Given the description of an element on the screen output the (x, y) to click on. 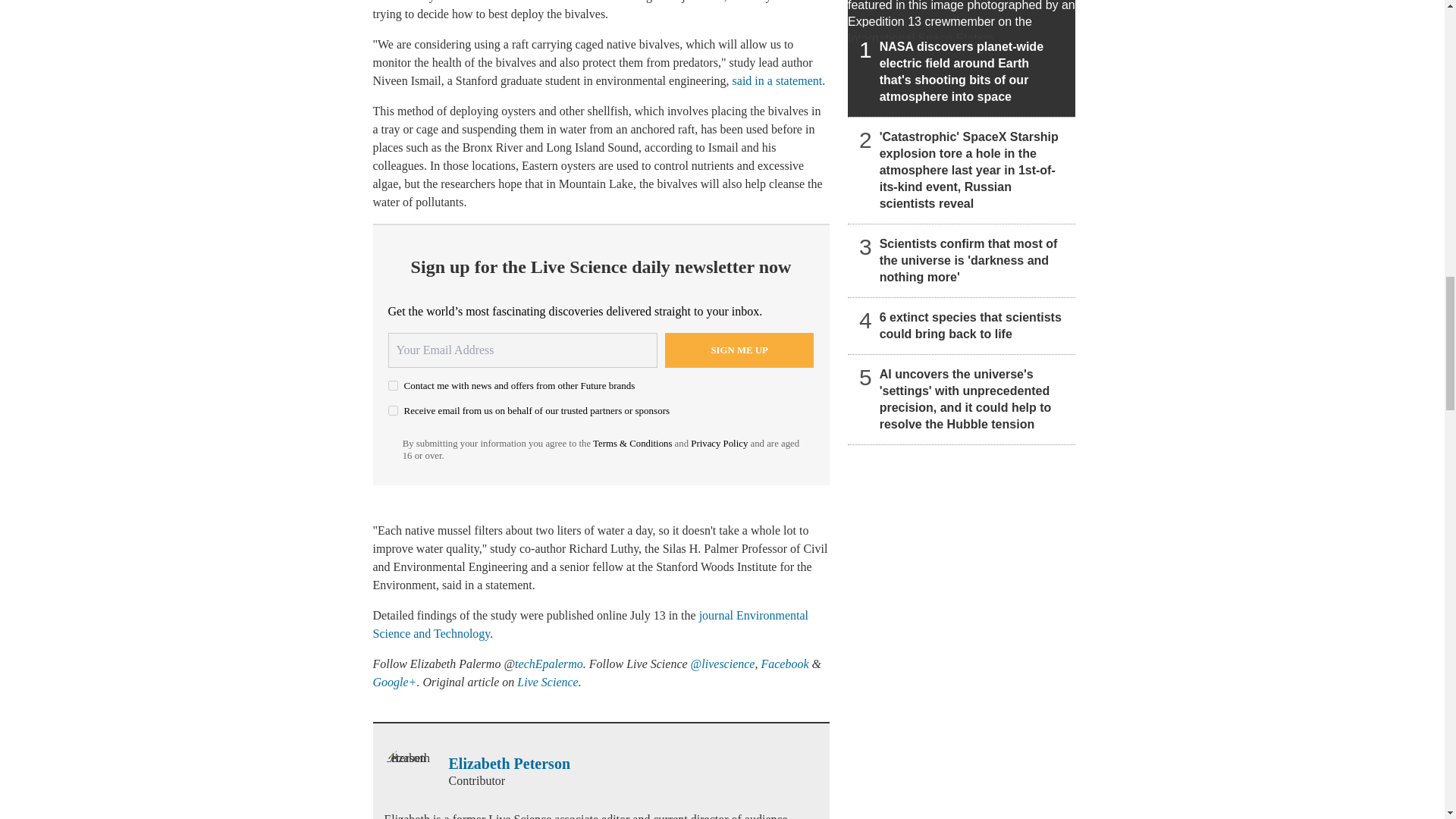
on (392, 385)
on (392, 410)
Sign me up (739, 349)
